Given the description of an element on the screen output the (x, y) to click on. 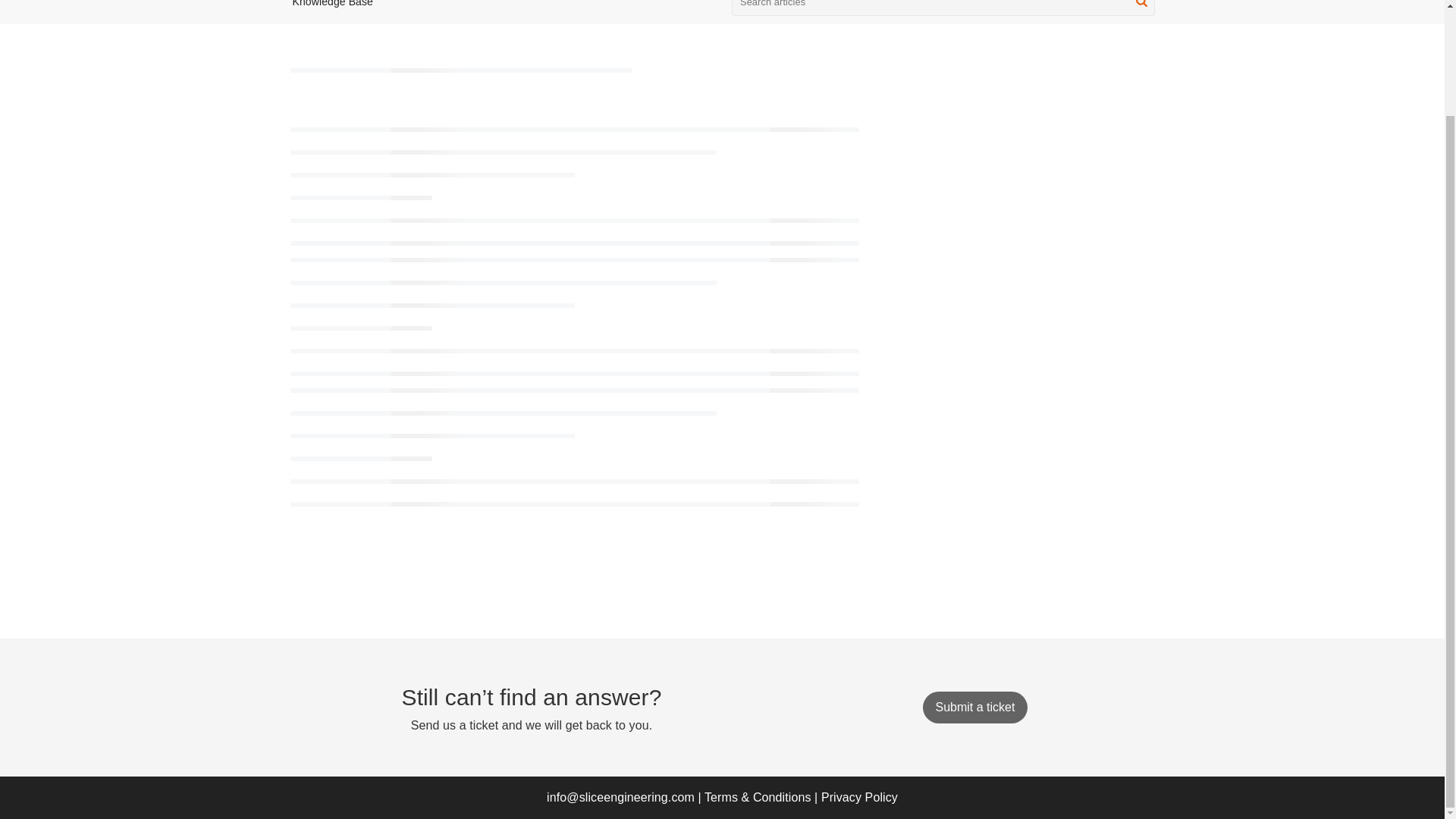
Submit a ticket (974, 707)
Submit a ticket (974, 707)
Knowledge Base (332, 3)
Privacy Policy (859, 797)
